Given the description of an element on the screen output the (x, y) to click on. 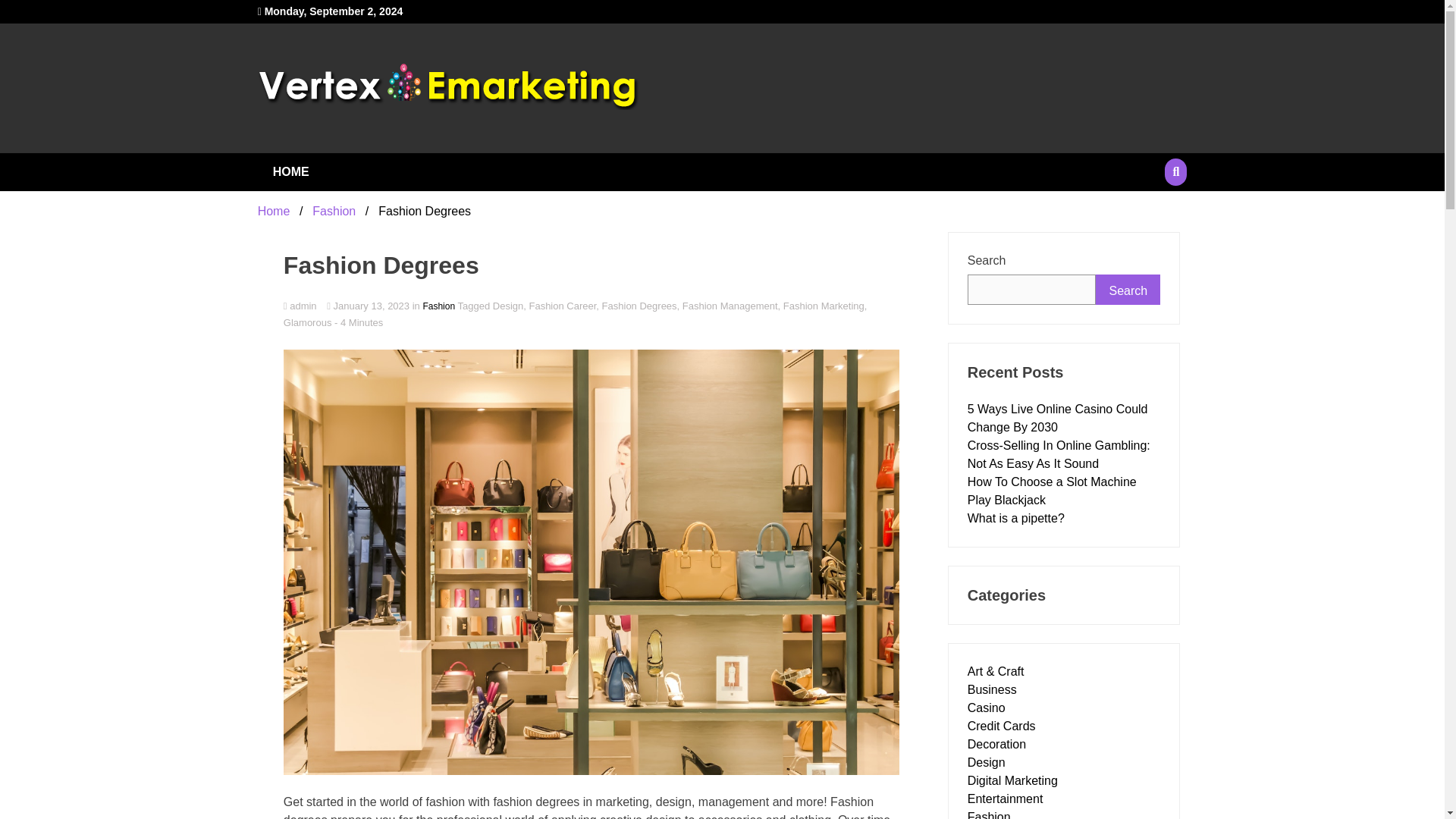
Fashion Degrees (639, 306)
Estimated Reading Time of Article (358, 322)
Fashion (438, 305)
Cross-Selling In Online Gambling: Not As Easy As It Sound (1059, 454)
Fashion Management (729, 306)
vertexemarketing (497, 146)
Fashion Career (561, 306)
5 Ways Live Online Casino Could Change By 2030 (1058, 418)
Fashion (334, 210)
Glamorous (307, 322)
